Given the description of an element on the screen output the (x, y) to click on. 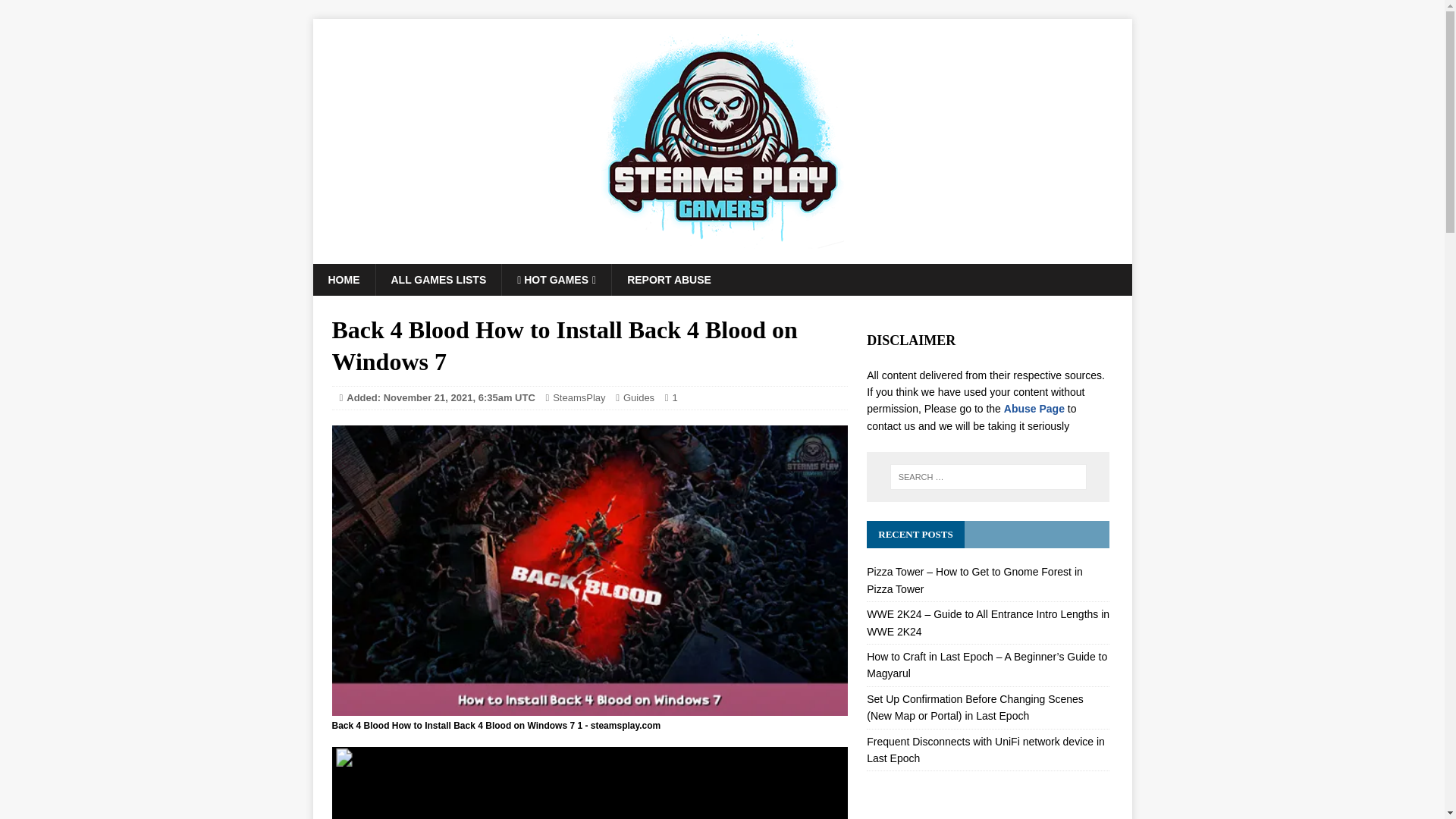
HOME (343, 279)
REPORT ABUSE (668, 279)
Added: November 21, 2021, 6:35am UTC (440, 397)
SteamsPlay (579, 397)
Guides (638, 397)
ALL GAMES LISTS (437, 279)
